Given the description of an element on the screen output the (x, y) to click on. 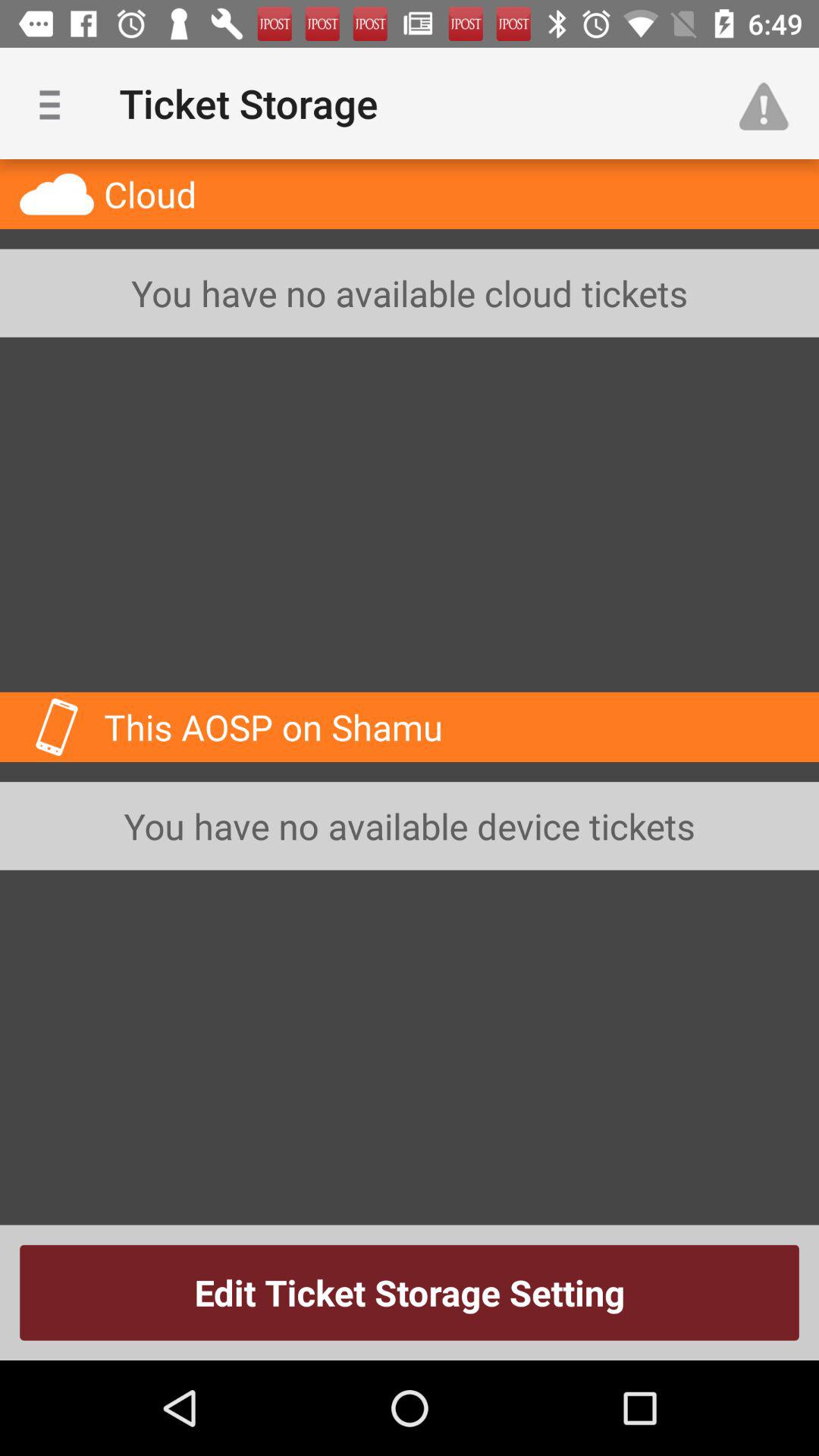
click the icon to the right of the ticket storage (771, 103)
